Given the description of an element on the screen output the (x, y) to click on. 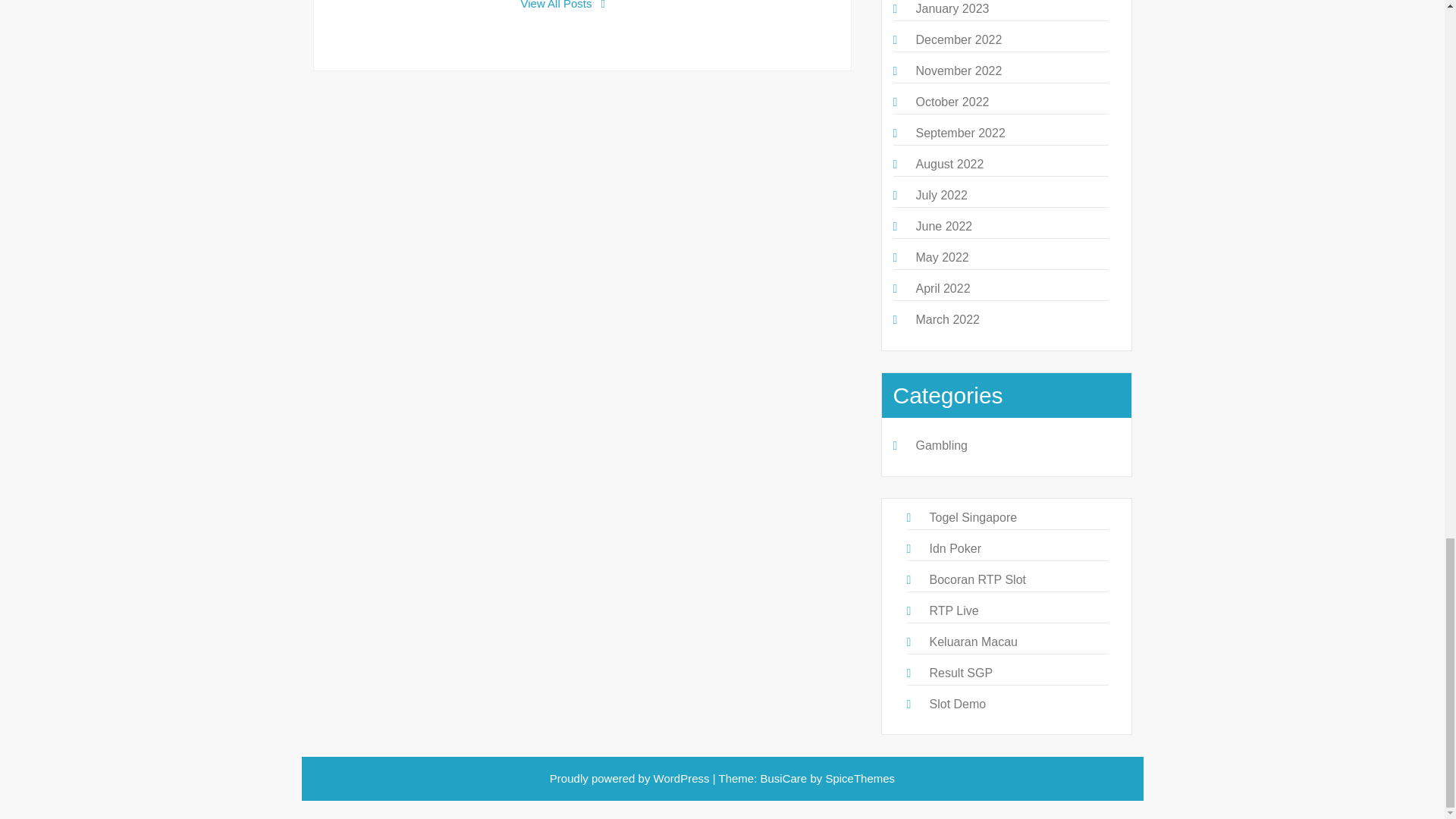
January 2023 (952, 8)
View All Posts (562, 4)
November 2022 (959, 70)
December 2022 (959, 39)
